Given the description of an element on the screen output the (x, y) to click on. 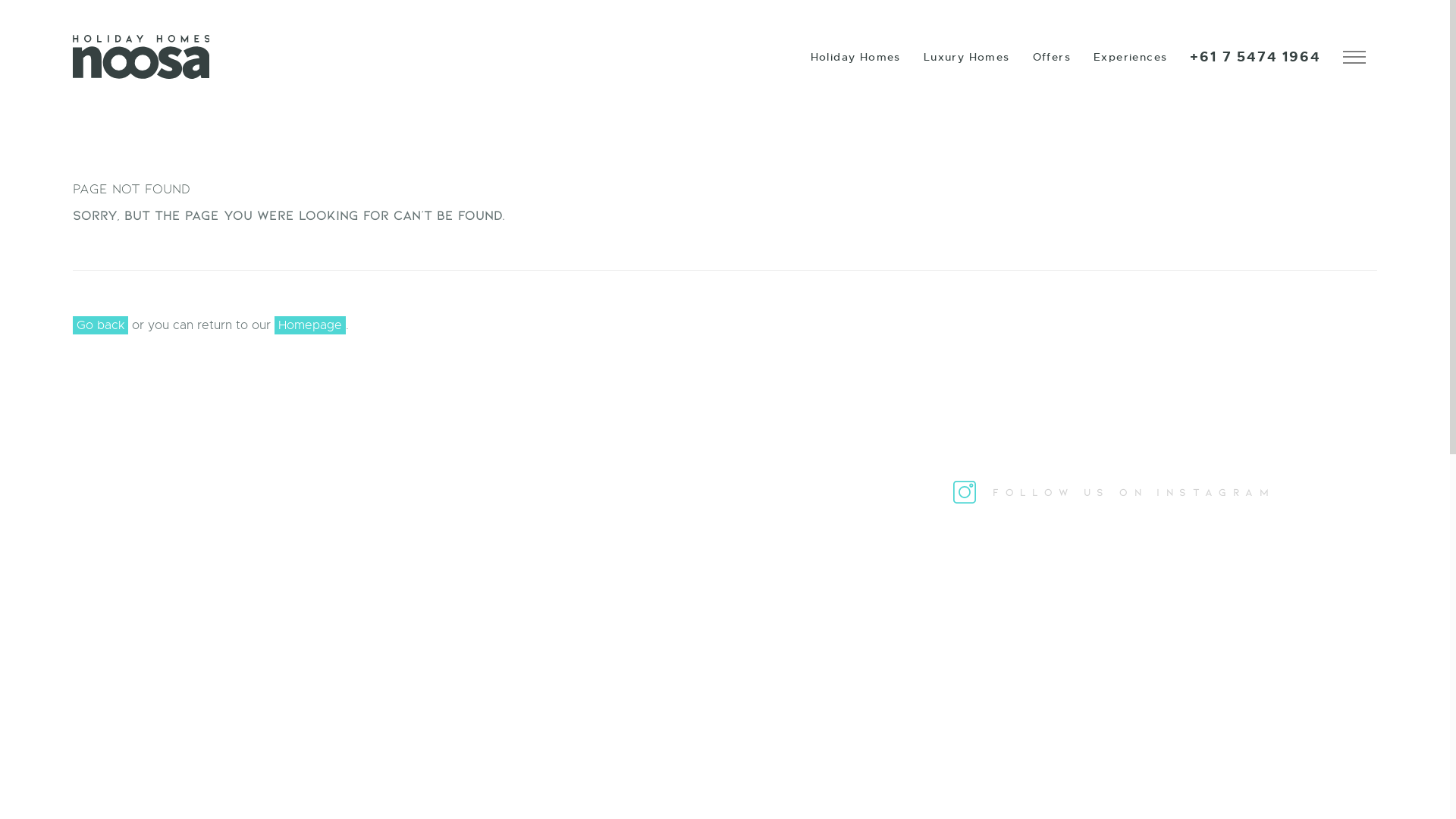
Experiences Element type: text (1129, 56)
FOLLOW US ON INSTAGRAM Element type: text (1113, 491)
Holiday Homes Noosa Element type: hover (141, 56)
Offers Element type: text (1051, 56)
Go back Element type: text (100, 325)
+61 7 5474 1964 Element type: text (1254, 56)
Homepage Element type: text (309, 325)
Holiday Homes Element type: text (855, 56)
Luxury Homes Element type: text (966, 56)
